Given the description of an element on the screen output the (x, y) to click on. 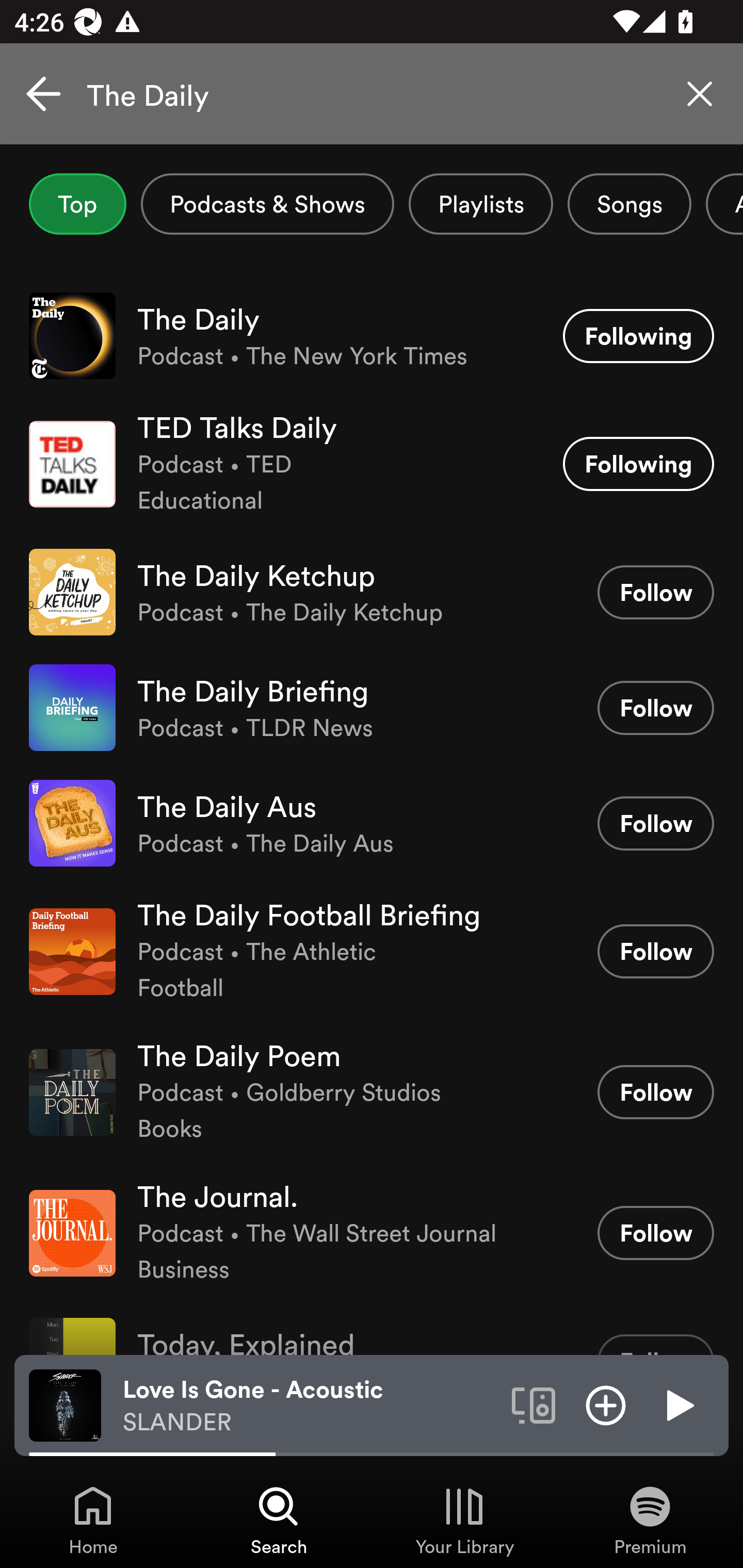
The Daily (371, 93)
Cancel (43, 93)
Clear search query (699, 93)
Top (77, 203)
Podcasts & Shows (267, 203)
Playlists (480, 203)
Songs (629, 203)
Following Unfollow (638, 335)
Following Unfollow (638, 463)
Follow (655, 592)
Follow (655, 707)
Follow (655, 822)
Follow (655, 950)
Follow (655, 1091)
Follow (655, 1232)
Love Is Gone - Acoustic SLANDER (309, 1405)
The cover art of the currently playing track (64, 1404)
Connect to a device. Opens the devices menu (533, 1404)
Add item (605, 1404)
Play (677, 1404)
Home, Tab 1 of 4 Home Home (92, 1519)
Search, Tab 2 of 4 Search Search (278, 1519)
Your Library, Tab 3 of 4 Your Library Your Library (464, 1519)
Premium, Tab 4 of 4 Premium Premium (650, 1519)
